Given the description of an element on the screen output the (x, y) to click on. 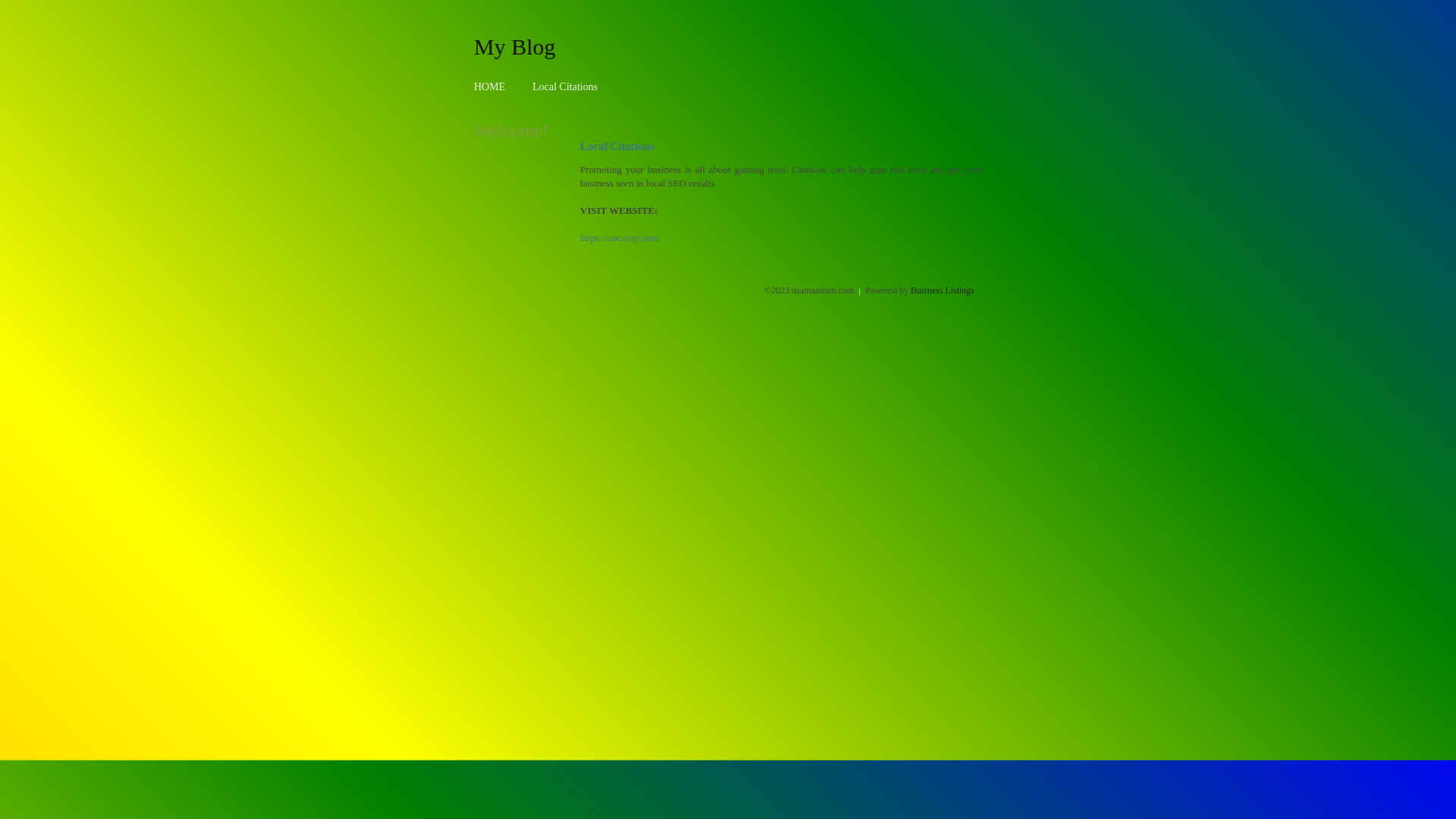
Business Listings Element type: text (942, 290)
https://oncavip.com/ Element type: text (620, 237)
HOME Element type: text (489, 86)
My Blog Element type: text (514, 46)
Local Citations Element type: text (564, 86)
